Given the description of an element on the screen output the (x, y) to click on. 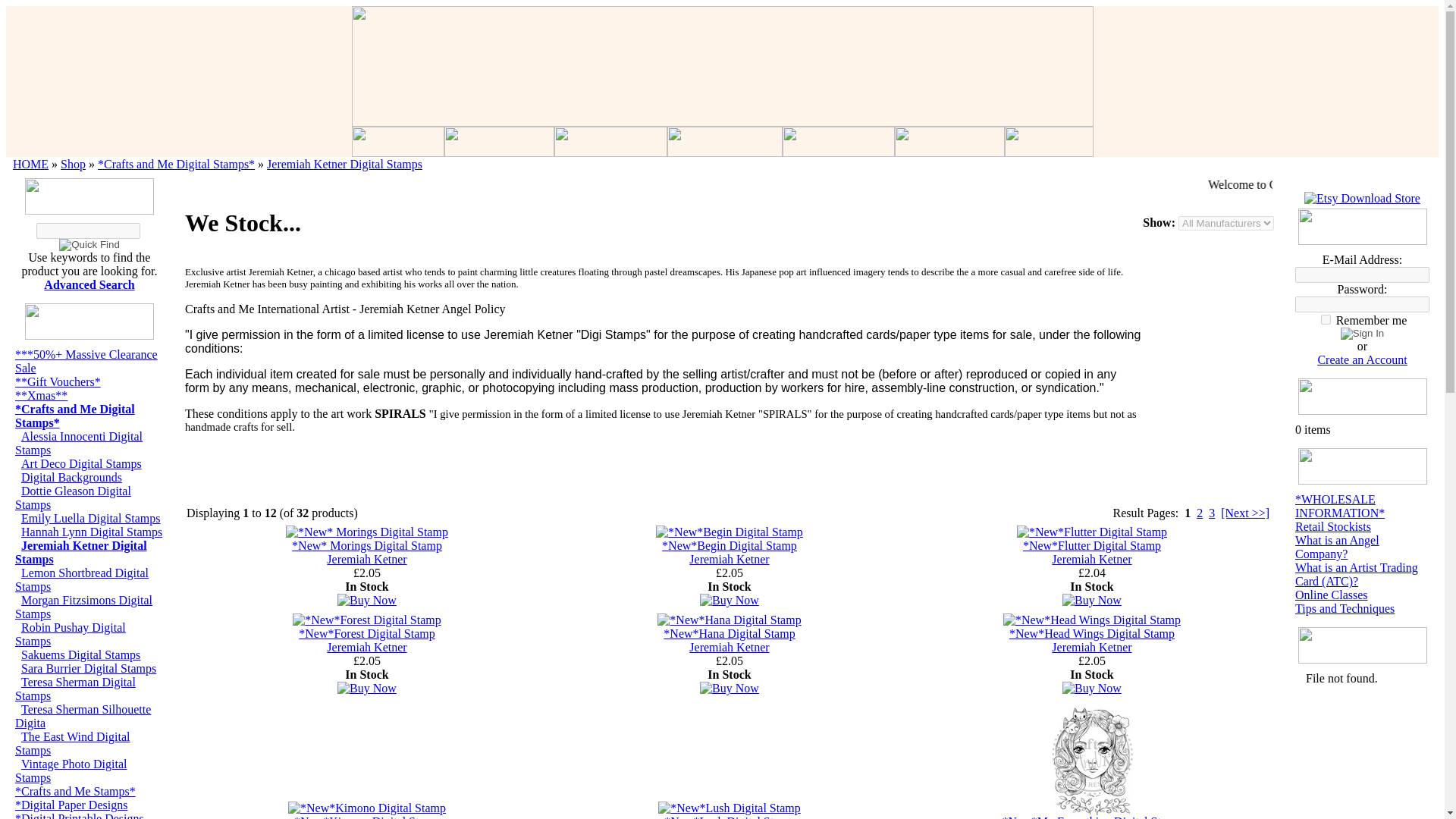
 Buy Now  (729, 688)
Sara Burrier Digital Stamps (88, 667)
 Buy Now  (366, 600)
Jeremiah Ketner Digital Stamps (80, 551)
Emily Luella Digital Stamps (90, 517)
Dottie Gleason Digital Stamps (72, 497)
Jeremiah Ketner Digital Stamps (344, 164)
on (1325, 319)
HOME (30, 164)
Digital Backgrounds (71, 477)
Alessia Innocenti Digital Stamps (78, 442)
Advanced Search (88, 284)
Robin Pushay Digital Stamps (69, 633)
 Quick Find  (89, 244)
Hannah Lynn Digital Stamps (91, 531)
